Given the description of an element on the screen output the (x, y) to click on. 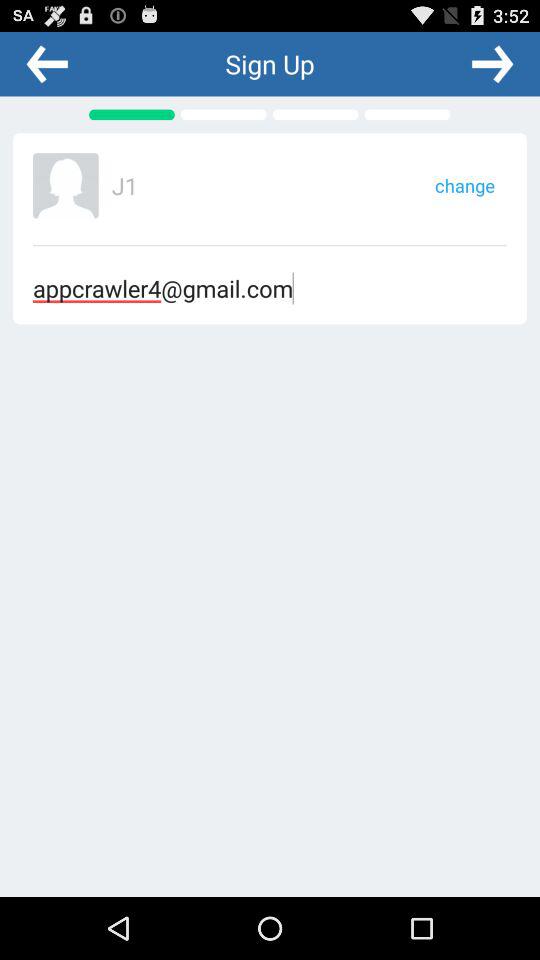
go to next (492, 63)
